Given the description of an element on the screen output the (x, y) to click on. 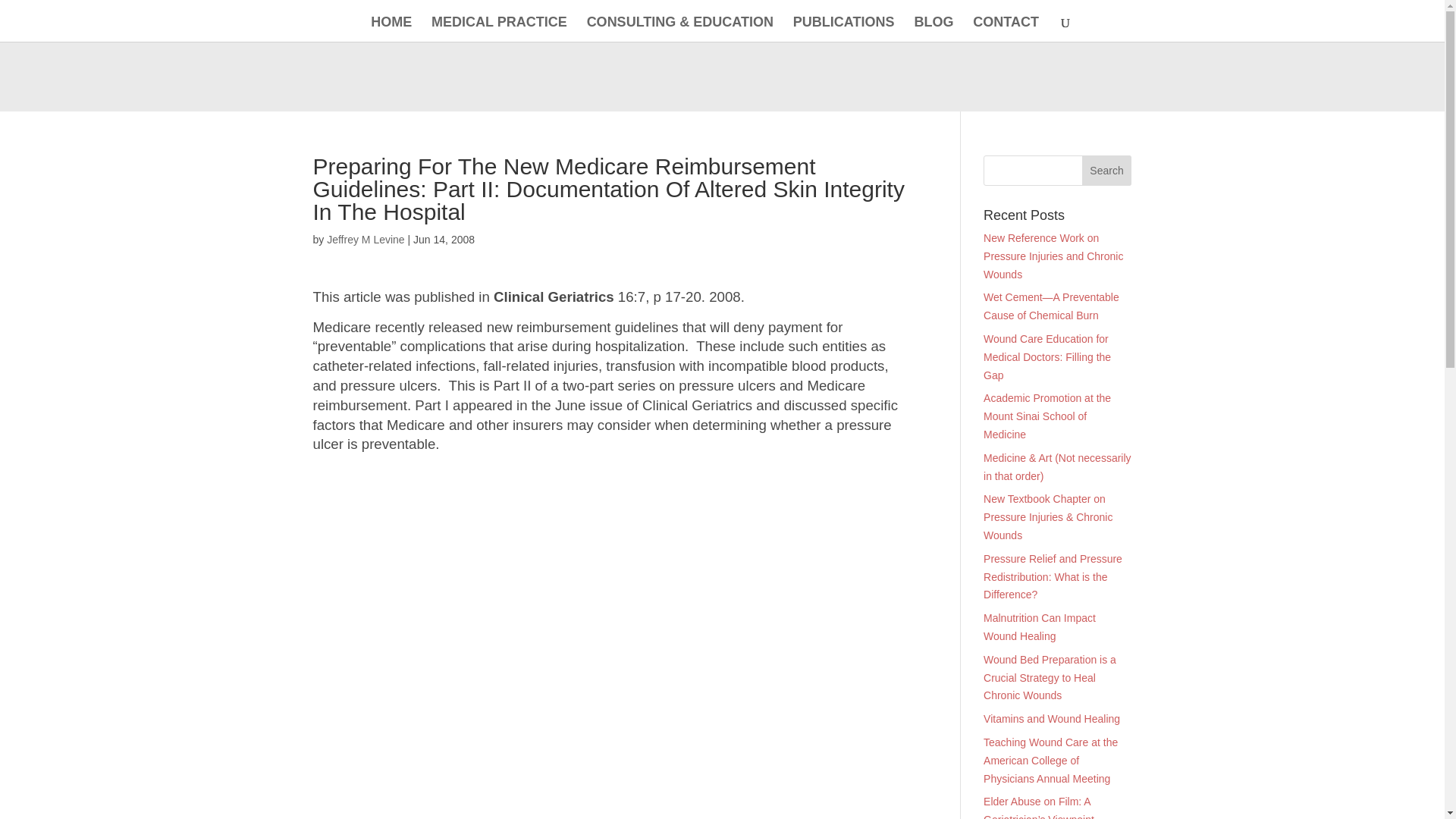
New Reference Work on Pressure Injuries and Chronic Wounds (1053, 255)
Vitamins and Wound Healing (1051, 718)
MEDICAL PRACTICE (498, 28)
Search (1106, 170)
BLOG (933, 28)
Academic Promotion at the Mount Sinai School of Medicine (1047, 416)
PUBLICATIONS (844, 28)
CONTACT (1005, 28)
